Given the description of an element on the screen output the (x, y) to click on. 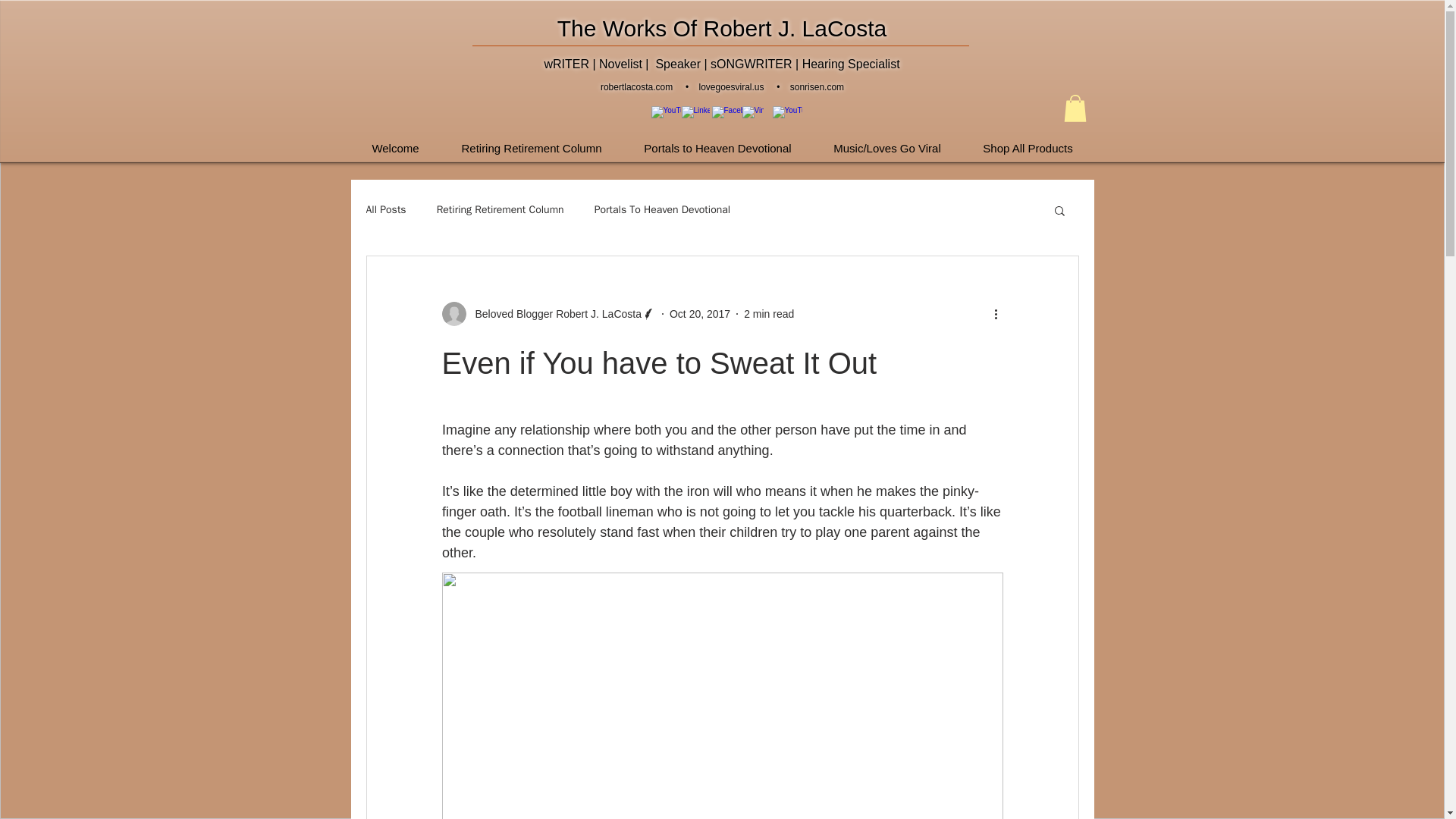
Retiring Retirement Column (531, 141)
Shop All Products (1026, 141)
Oct 20, 2017 (699, 313)
Retiring Retirement Column (500, 210)
Portals to Heaven Devotional (717, 141)
2 min read (768, 313)
Welcome (394, 141)
All Posts (385, 210)
sonrisen.com (817, 86)
Beloved Blogger Robert J. LaCosta (552, 314)
